Given the description of an element on the screen output the (x, y) to click on. 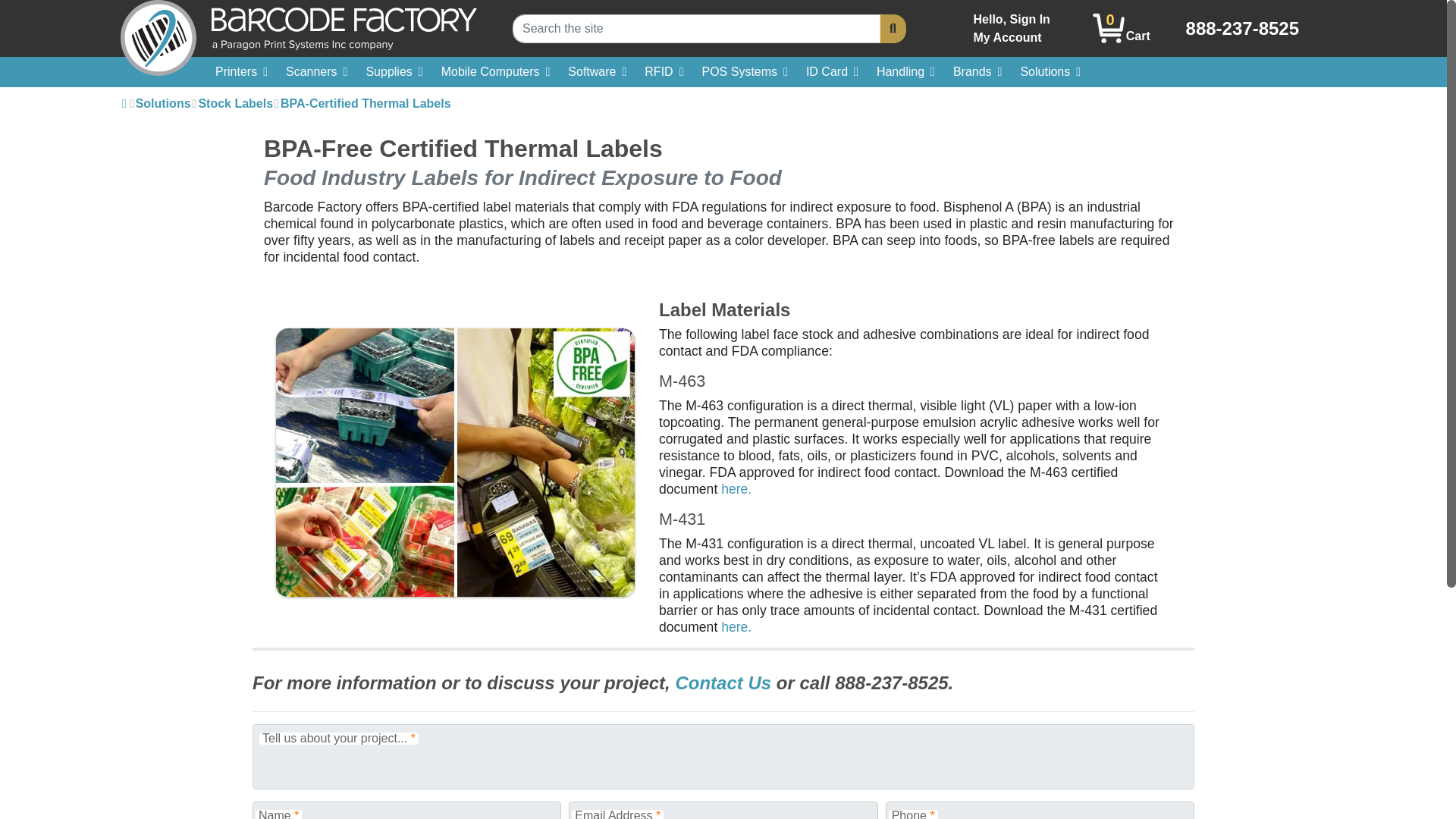
Sign In account (1012, 28)
Shopping Cart (1012, 28)
Shopping Cart (1108, 28)
Printers (1121, 27)
